Given the description of an element on the screen output the (x, y) to click on. 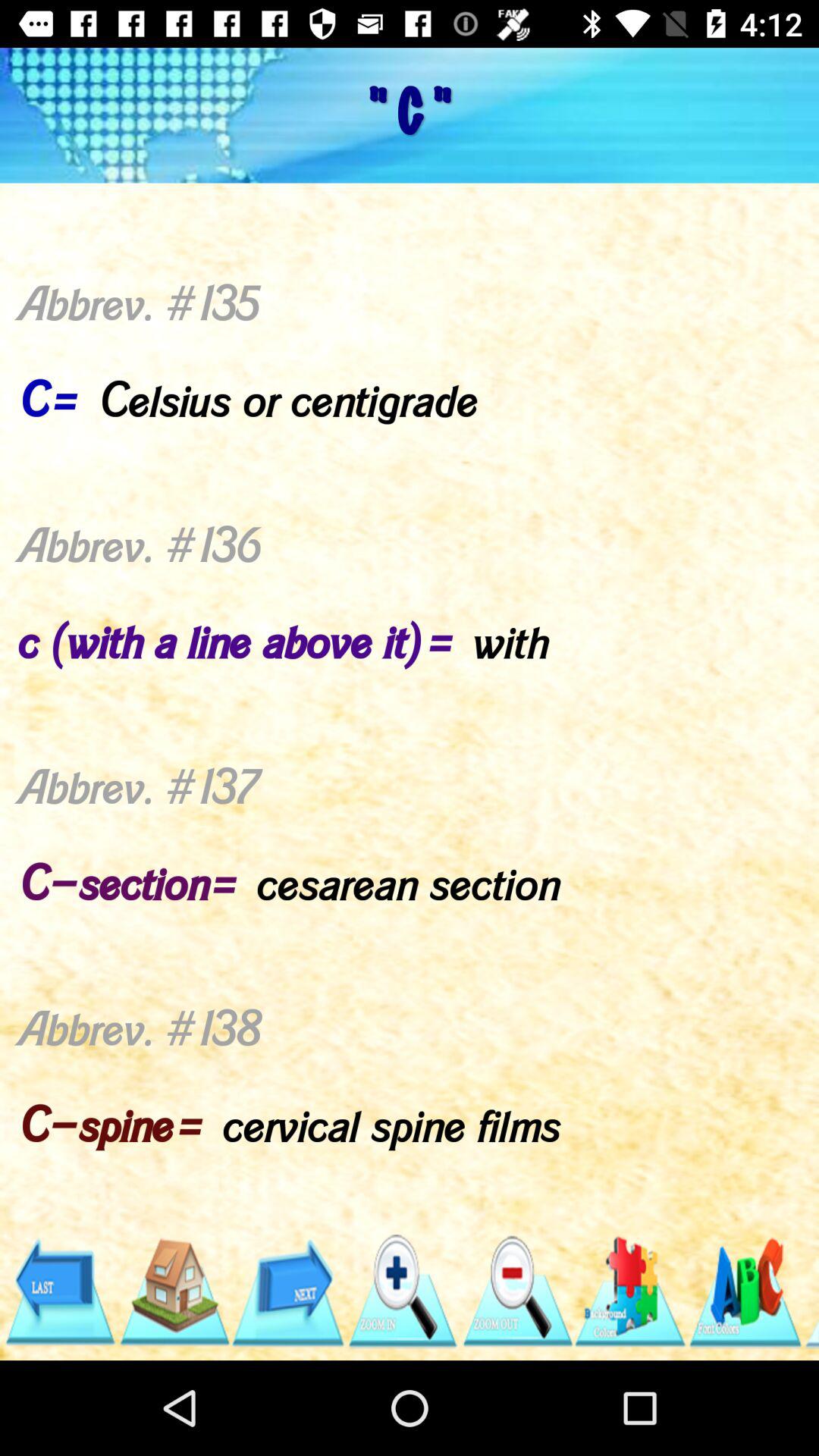
come back (59, 1291)
